Given the description of an element on the screen output the (x, y) to click on. 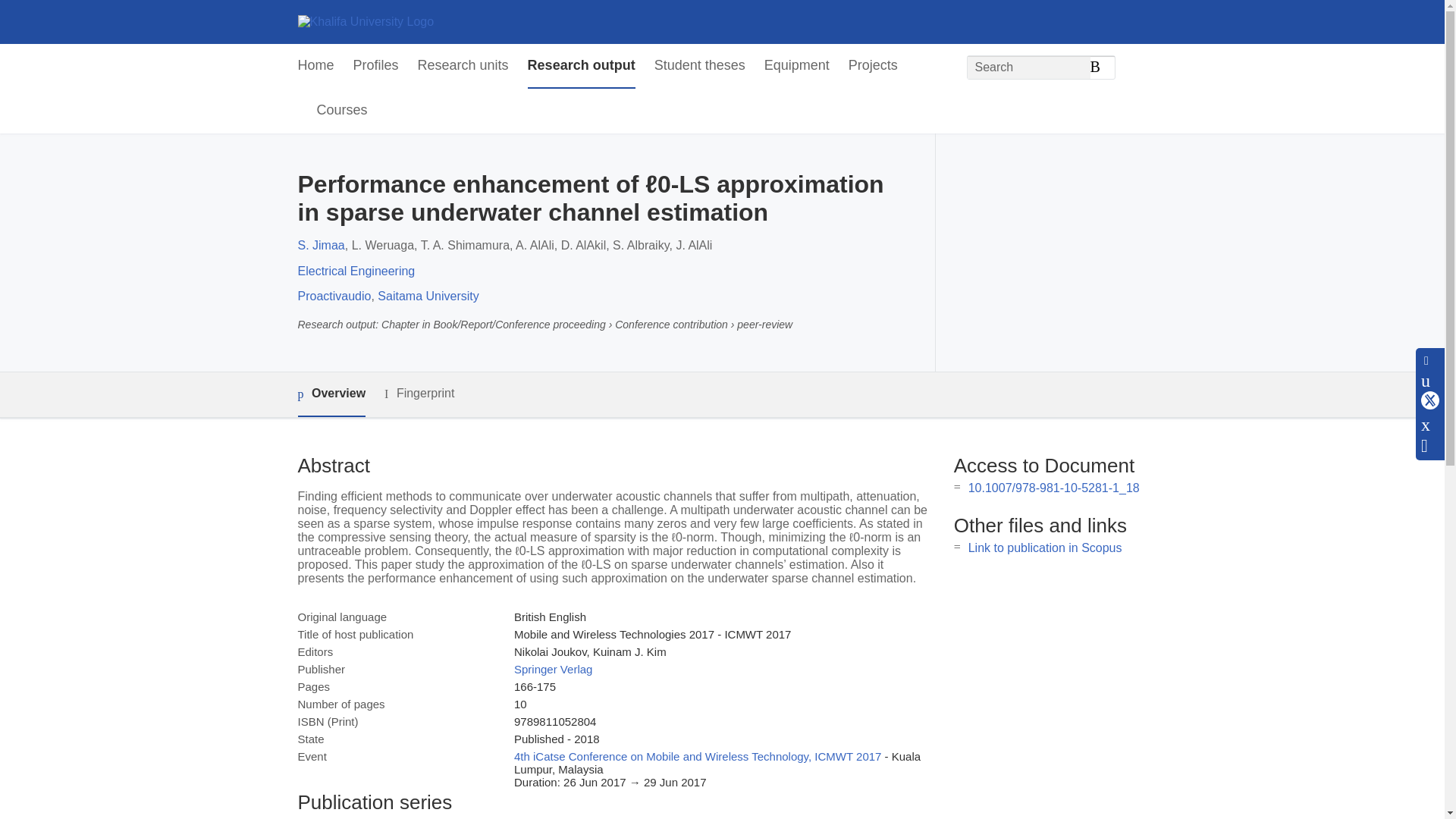
Fingerprint (419, 393)
Electrical Engineering (355, 270)
Springer Verlag (552, 668)
Khalifa University Home (365, 21)
Profiles (375, 66)
Research output (580, 66)
Research units (462, 66)
Saitama University (428, 295)
Projects (873, 66)
